Given the description of an element on the screen output the (x, y) to click on. 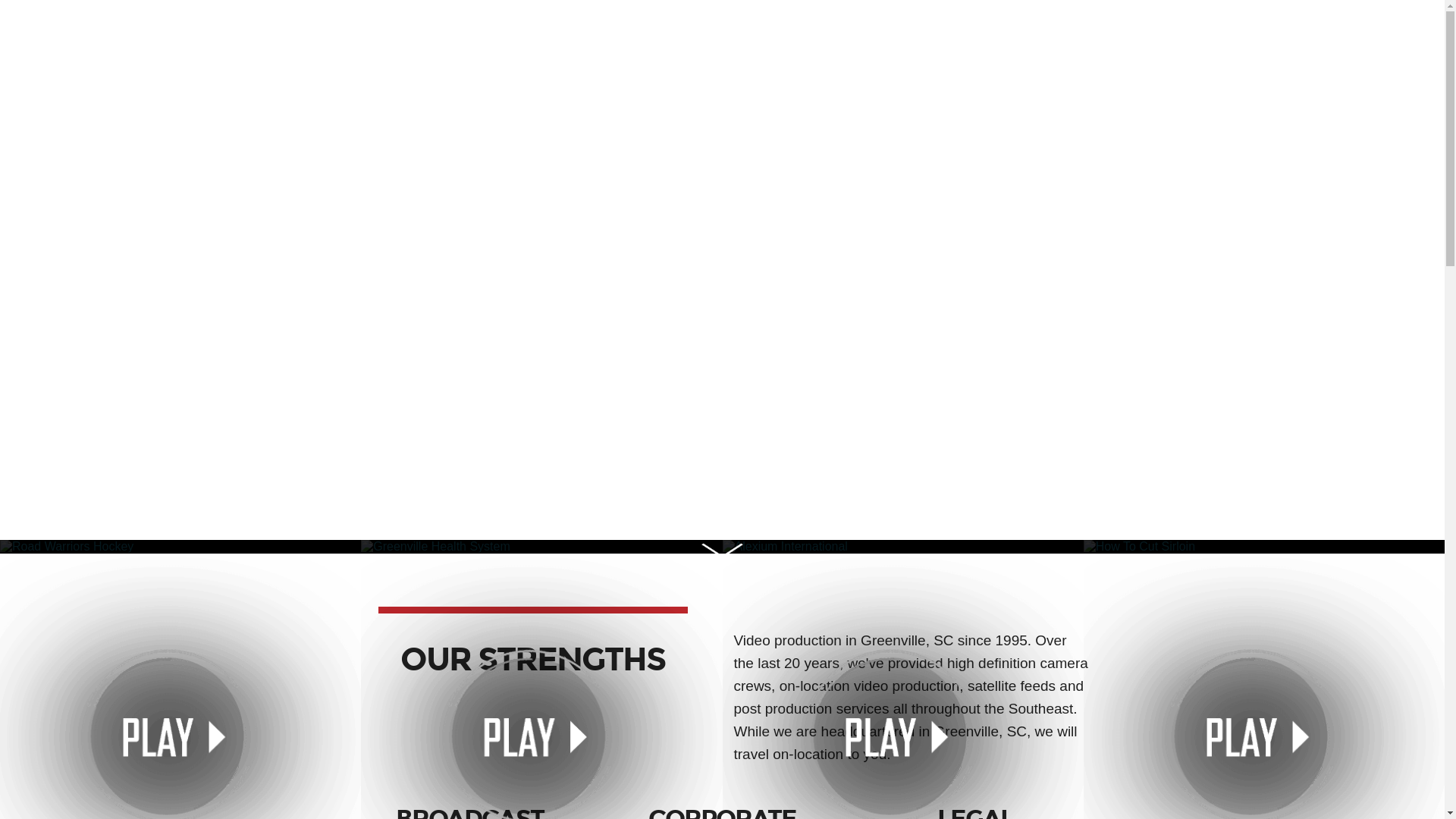
About Us Element type: text (937, 23)
VIEW OUR WORK Element type: text (722, 494)
Broadcast Element type: text (412, 23)
Portfolio Element type: text (851, 23)
Contact Element type: text (1029, 23)
Corporate Element type: text (503, 23)
Legal Element type: text (592, 23)
